Given the description of an element on the screen output the (x, y) to click on. 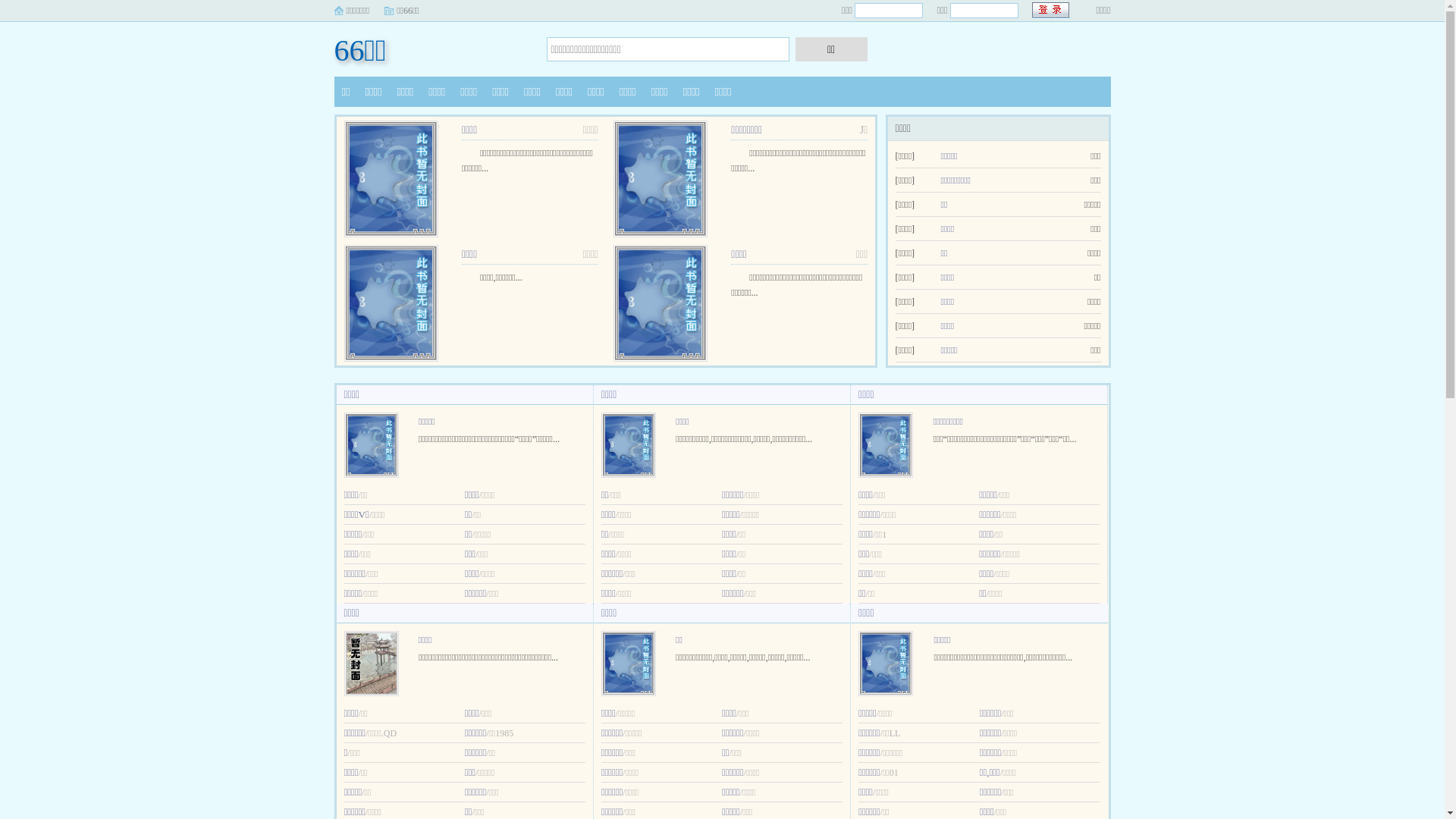
  Element type: text (1051, 10)
